Given the description of an element on the screen output the (x, y) to click on. 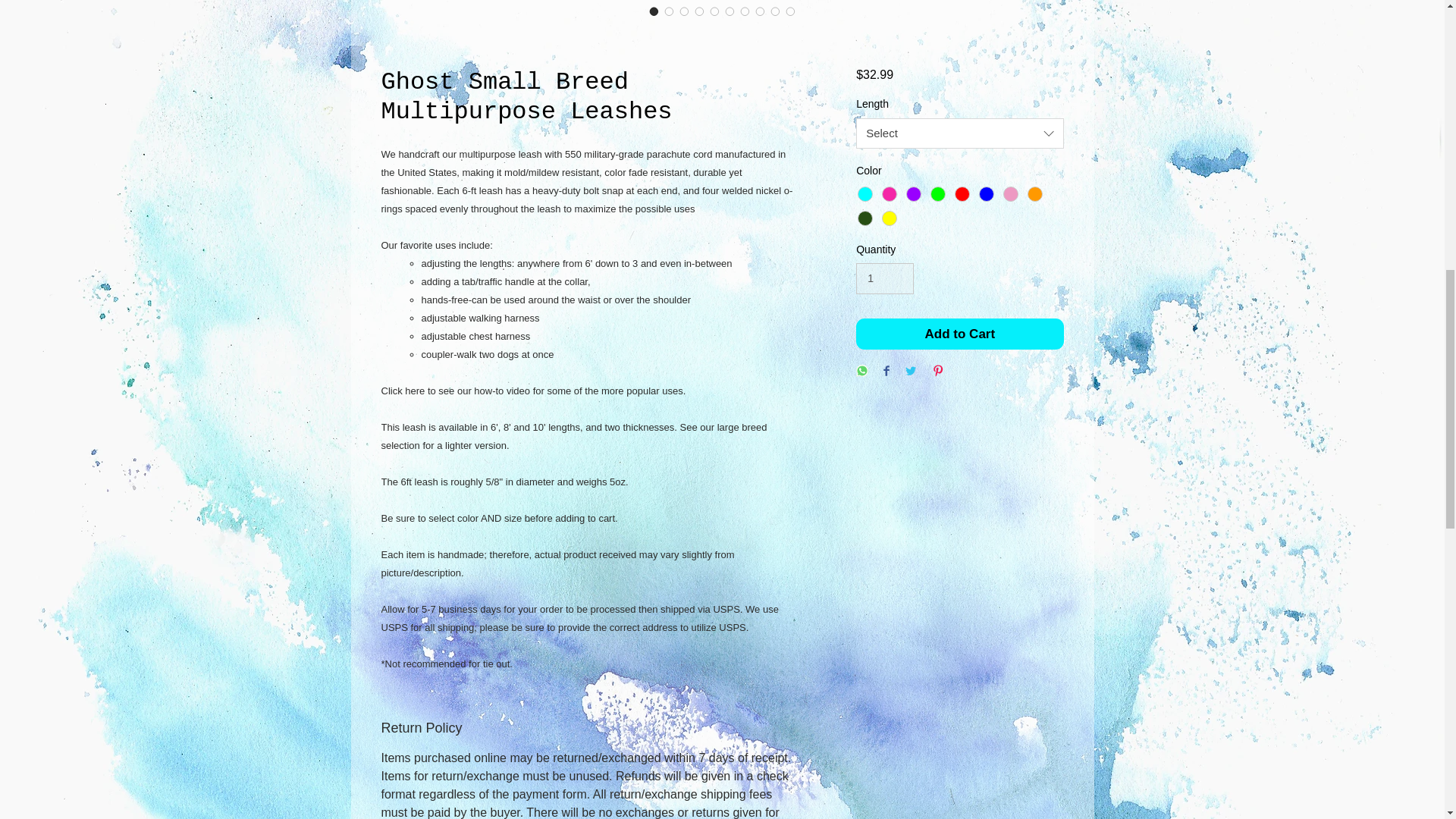
Select (959, 132)
Add to Cart (959, 334)
1 (885, 278)
